Given the description of an element on the screen output the (x, y) to click on. 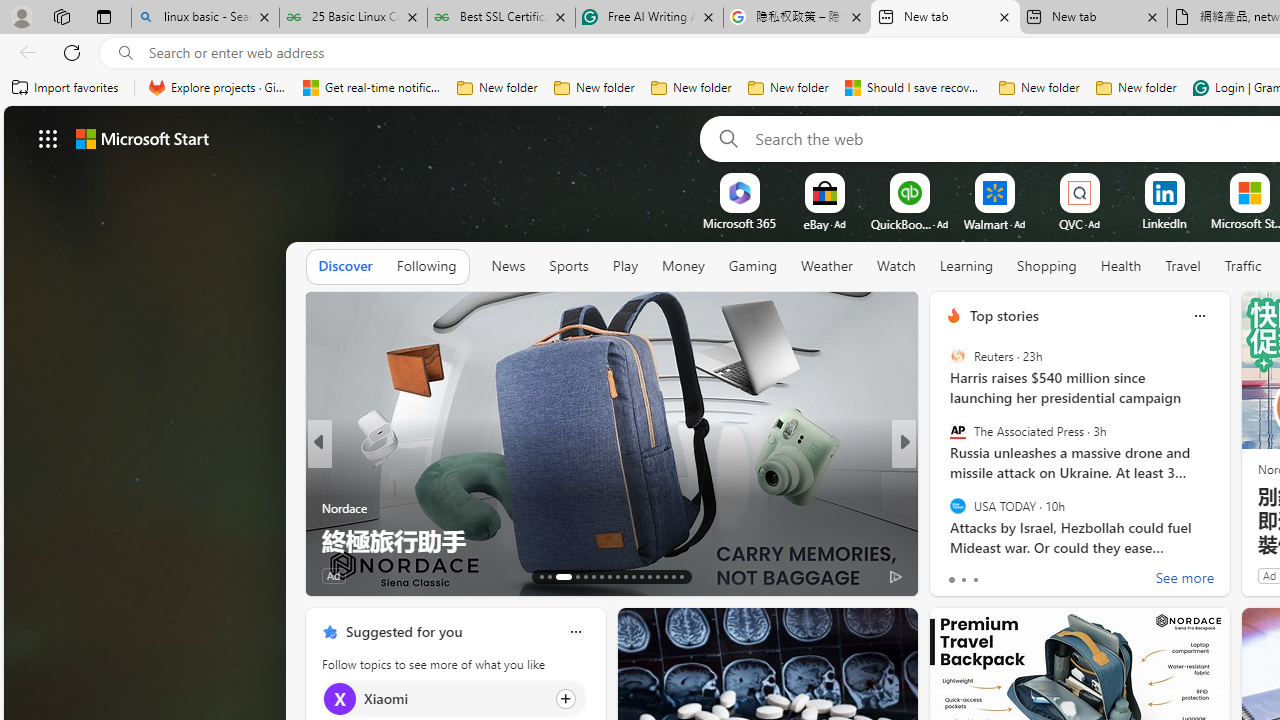
Reuters (957, 356)
Rarest.org (329, 507)
Real Simple (944, 507)
IT Concept (965, 507)
View comments 72 Comment (1042, 575)
508 Like (959, 574)
Ash & Pri (944, 507)
